Given the description of an element on the screen output the (x, y) to click on. 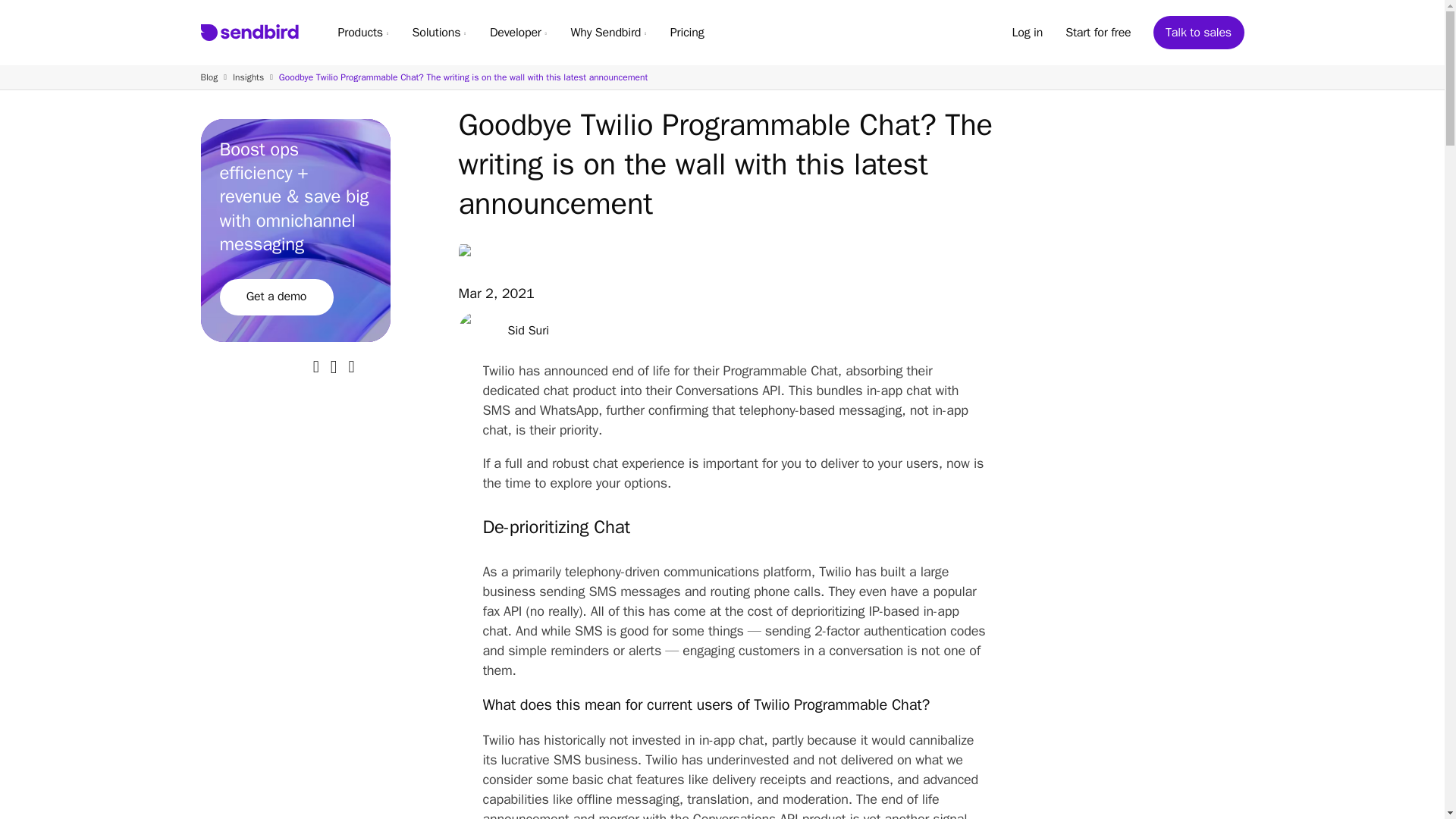
Get a demo (276, 297)
Blog (208, 76)
Logo (249, 32)
Insights (247, 76)
Start for free (1097, 32)
Log in (1027, 32)
Talk to sales (1198, 32)
Pricing (686, 32)
